Given the description of an element on the screen output the (x, y) to click on. 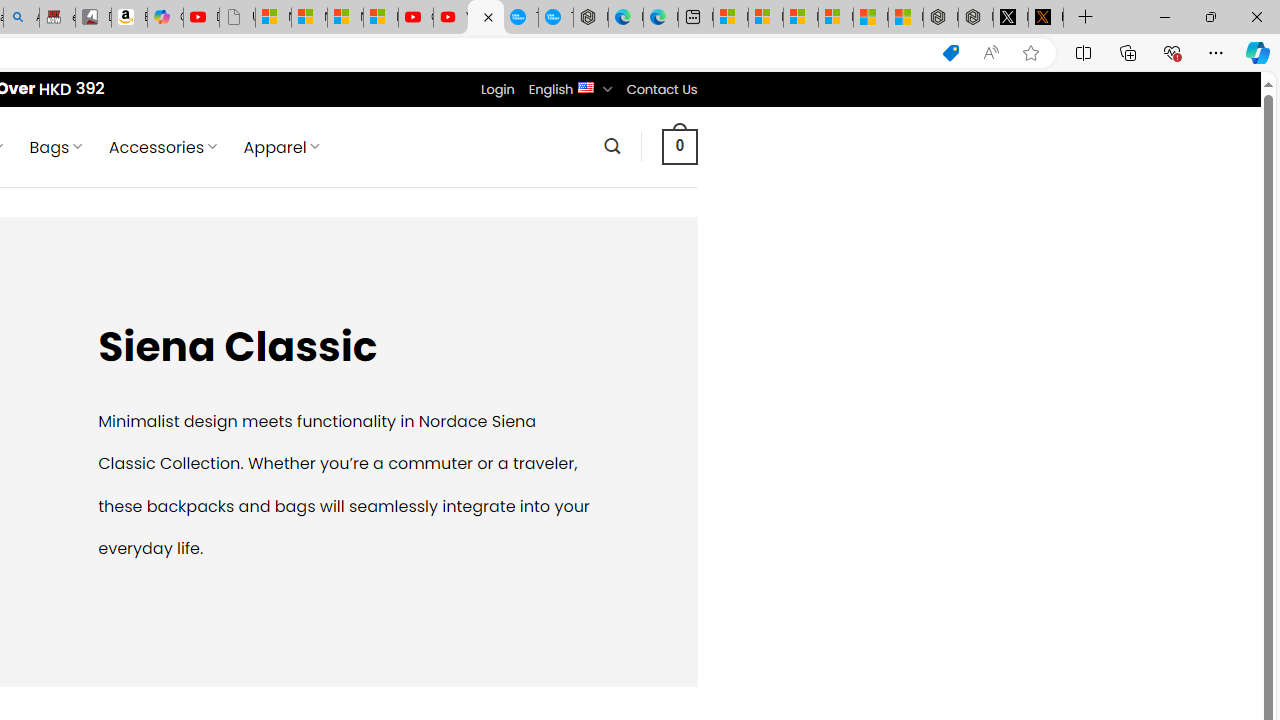
English (586, 86)
